Given the description of an element on the screen output the (x, y) to click on. 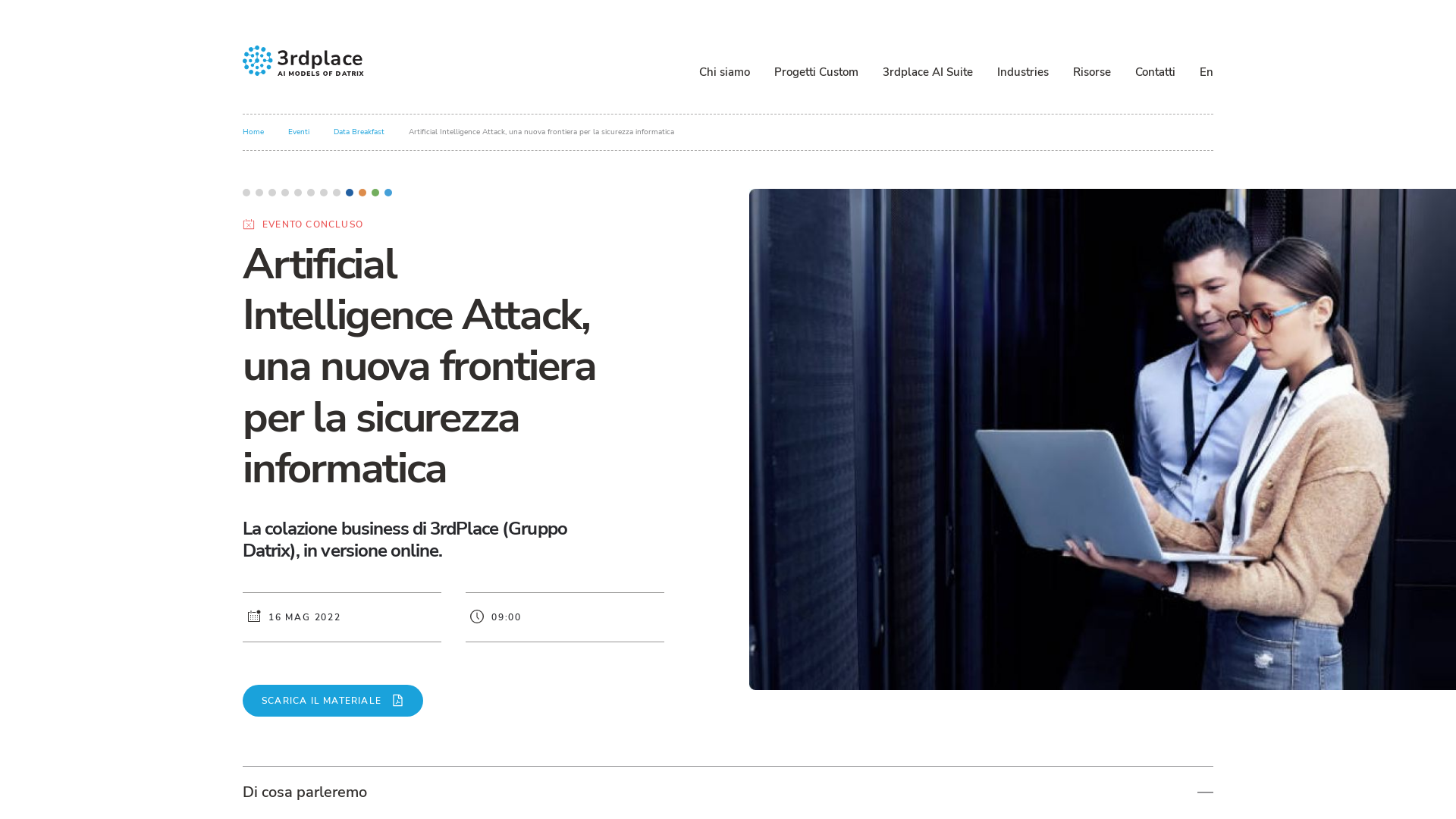
3rdplace AI Suite Element type: text (927, 71)
Home Element type: text (253, 132)
Data Breakfast Element type: text (358, 132)
SCARICA IL MATERIALE Element type: text (332, 700)
Industries Element type: text (1022, 71)
Contatti Element type: text (1155, 71)
Risorse Element type: text (1091, 71)
Eventi Element type: text (298, 132)
En Element type: text (1206, 71)
Chi siamo Element type: text (724, 71)
Progetti Custom Element type: text (816, 71)
